Given the description of an element on the screen output the (x, y) to click on. 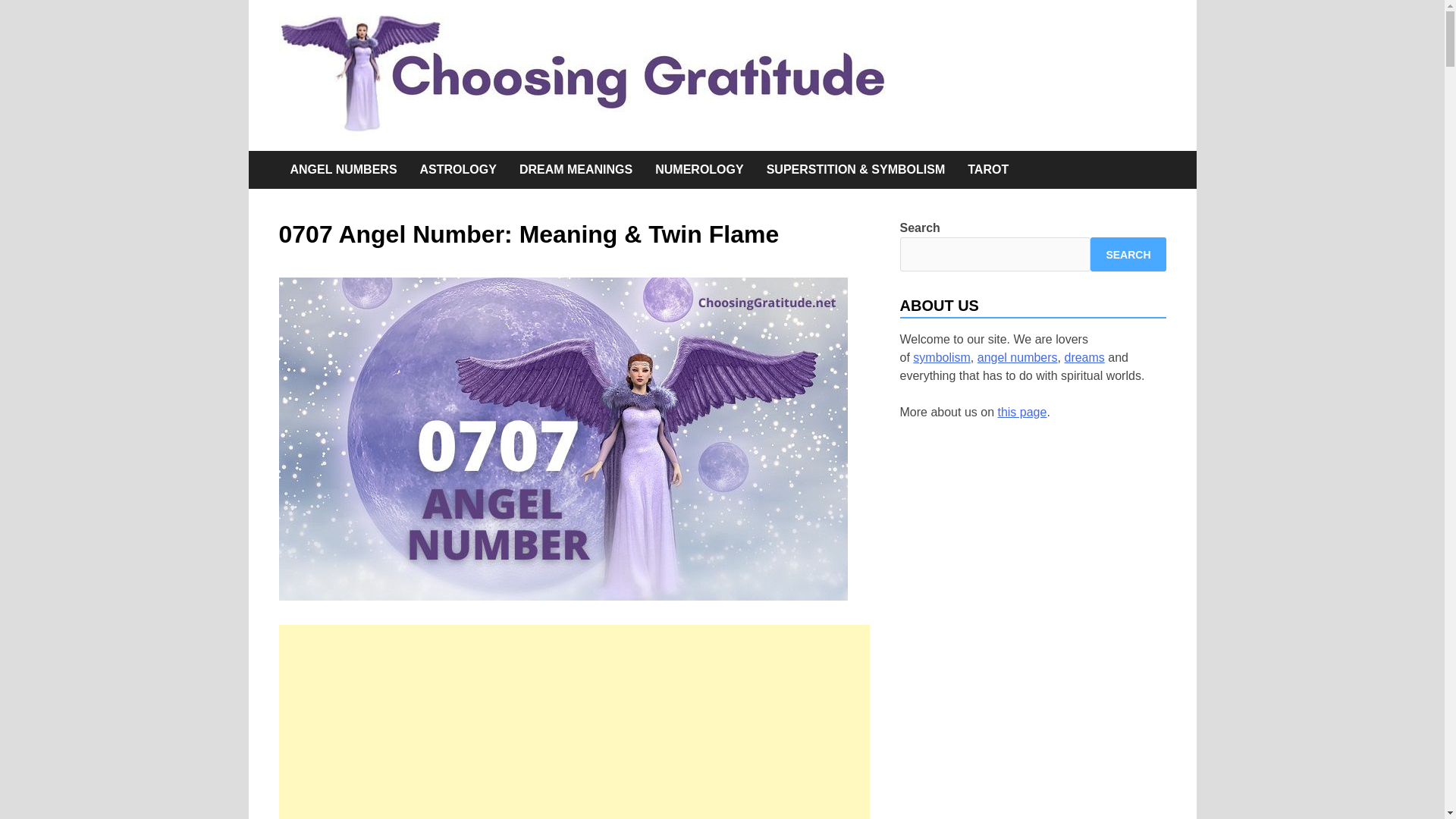
dreams (1083, 357)
angel numbers (1017, 357)
ASTROLOGY (458, 169)
ANGEL NUMBERS (344, 169)
TAROT (988, 169)
SEARCH (1128, 254)
Choosing Gratitude (1070, 101)
NUMEROLOGY (698, 169)
DREAM MEANINGS (575, 169)
this page (1021, 411)
symbolism (941, 357)
Advertisement (574, 721)
